Given the description of an element on the screen output the (x, y) to click on. 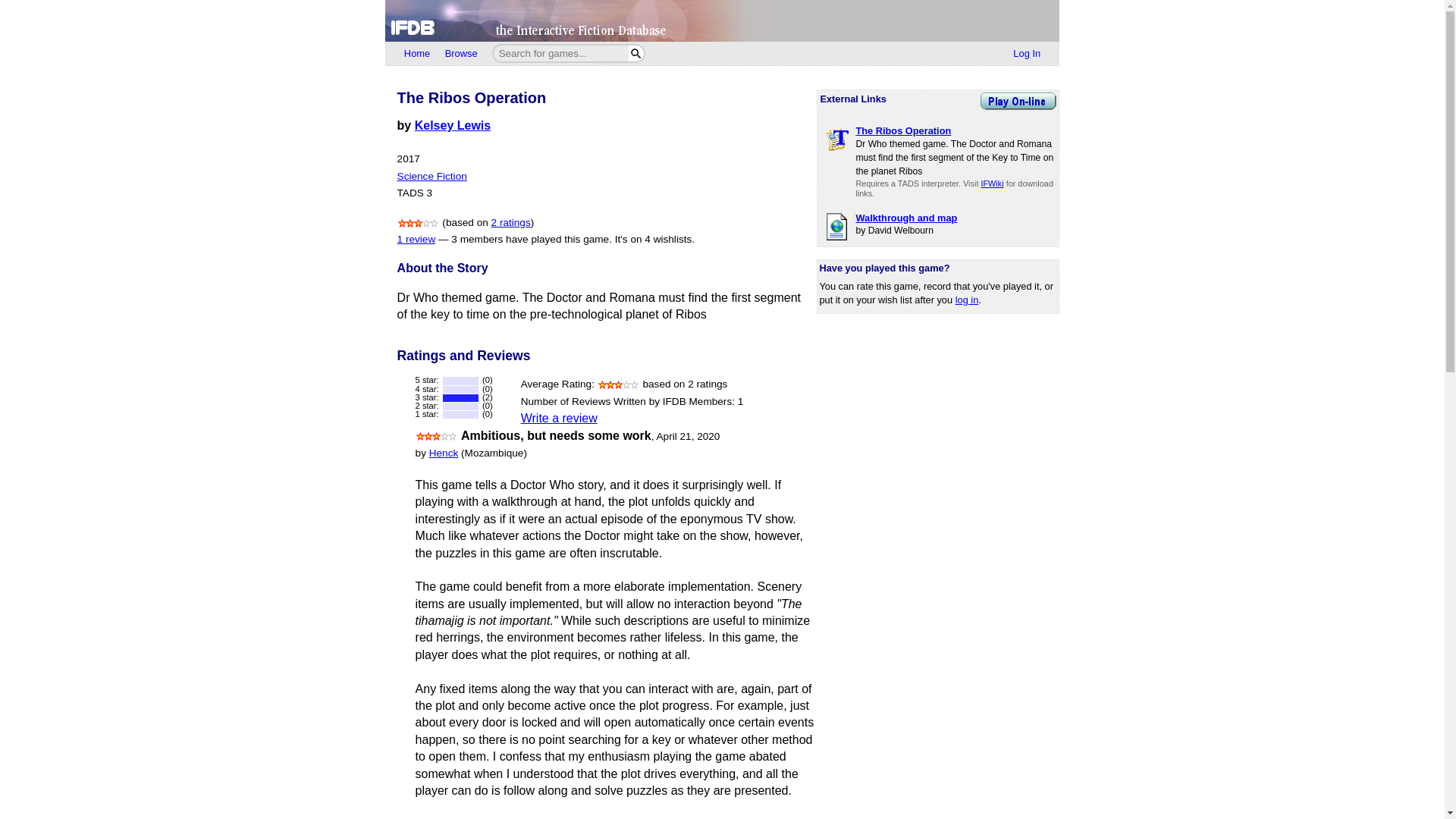
3 Stars (418, 223)
Walkthrough and map (906, 217)
Science Fiction (432, 175)
Write a review (558, 418)
It's on 4 wishlists. (654, 238)
2 ratings (511, 222)
1 review (416, 238)
Henck (443, 452)
Kelsey Lewis (453, 124)
